Given the description of an element on the screen output the (x, y) to click on. 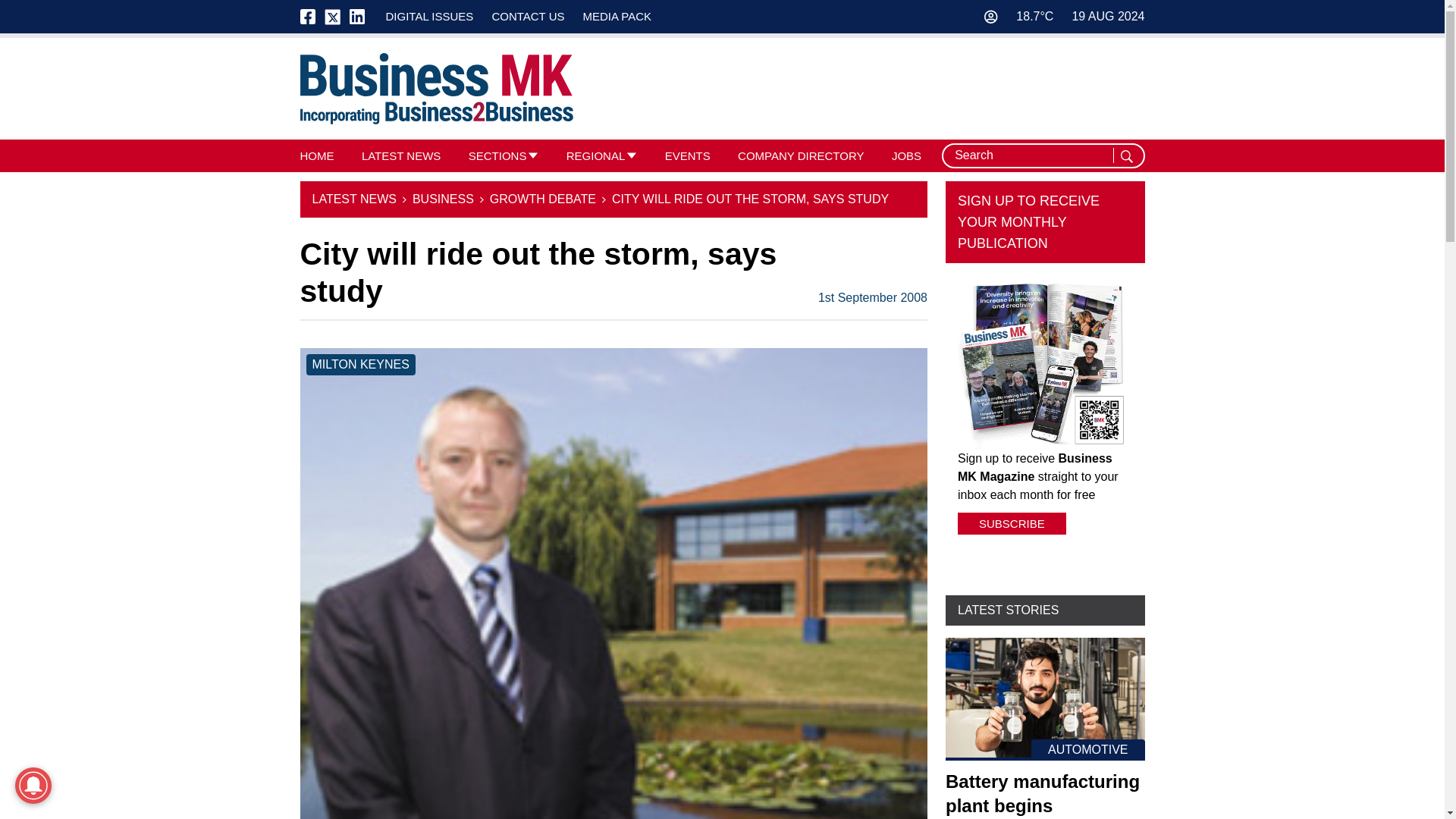
Search (1128, 155)
Go to the Growth Debate Category archives. (542, 198)
MEDIA PACK (616, 15)
Business MK on Facebook (311, 16)
Business mk on LinkedIn (356, 16)
See all milton keynes (359, 364)
Go to the Business Category archives. (443, 198)
Go to Latest News. (354, 198)
LATEST NEWS (401, 155)
Business MK on Twitter (332, 17)
